Given the description of an element on the screen output the (x, y) to click on. 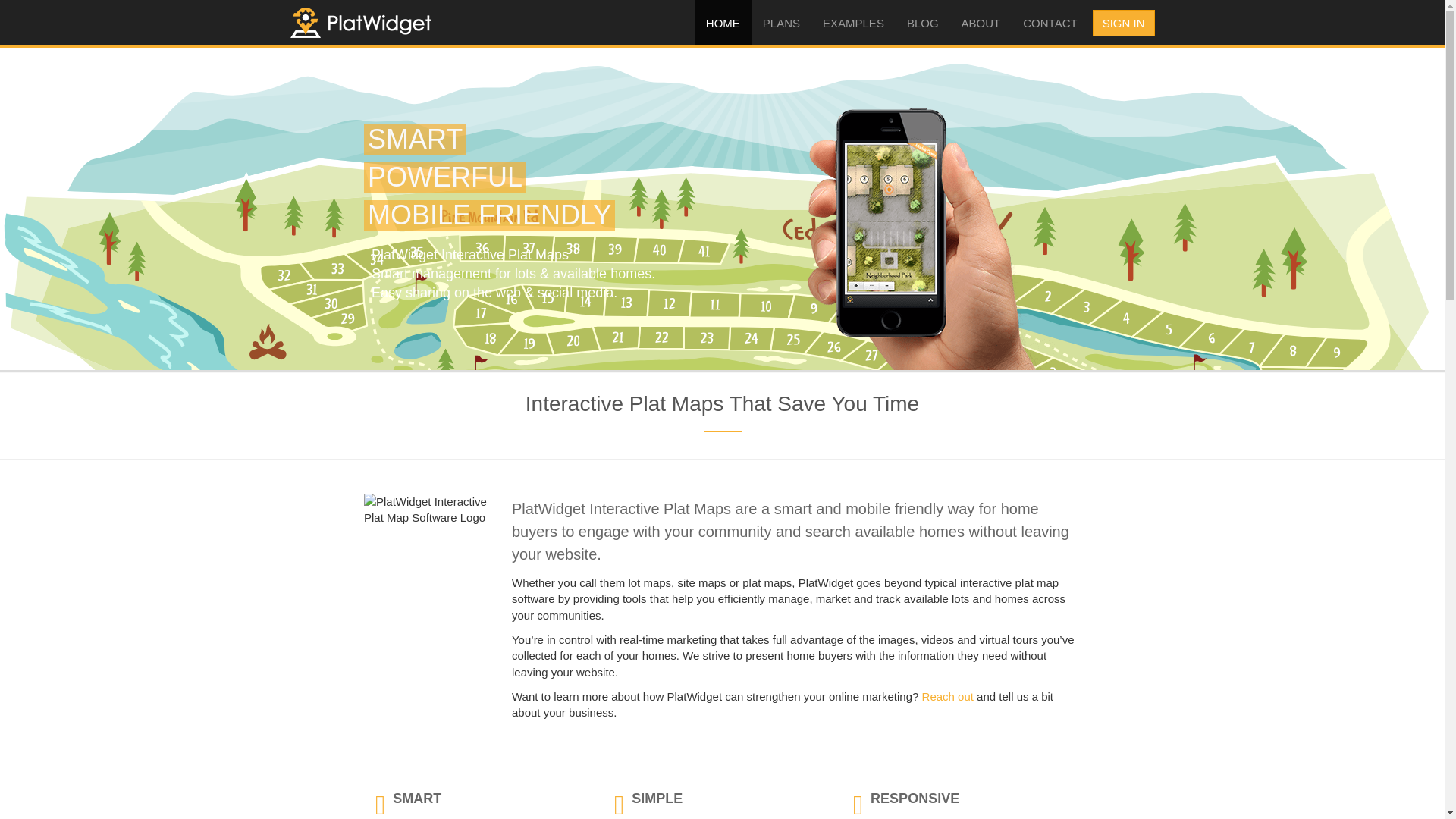
About (980, 22)
CONTACT (1049, 22)
Sign In (1123, 22)
PlatWidget Interactive Plat Map Software (426, 509)
SIGN IN (1123, 22)
ABOUT (980, 22)
Blog (922, 22)
Reach out (947, 696)
Contact (1049, 22)
PLANS (780, 22)
EXAMPLES (852, 22)
Contact us (947, 696)
BLOG (922, 22)
Live Interactive Plat Map Examples (852, 22)
Plans (780, 22)
